Given the description of an element on the screen output the (x, y) to click on. 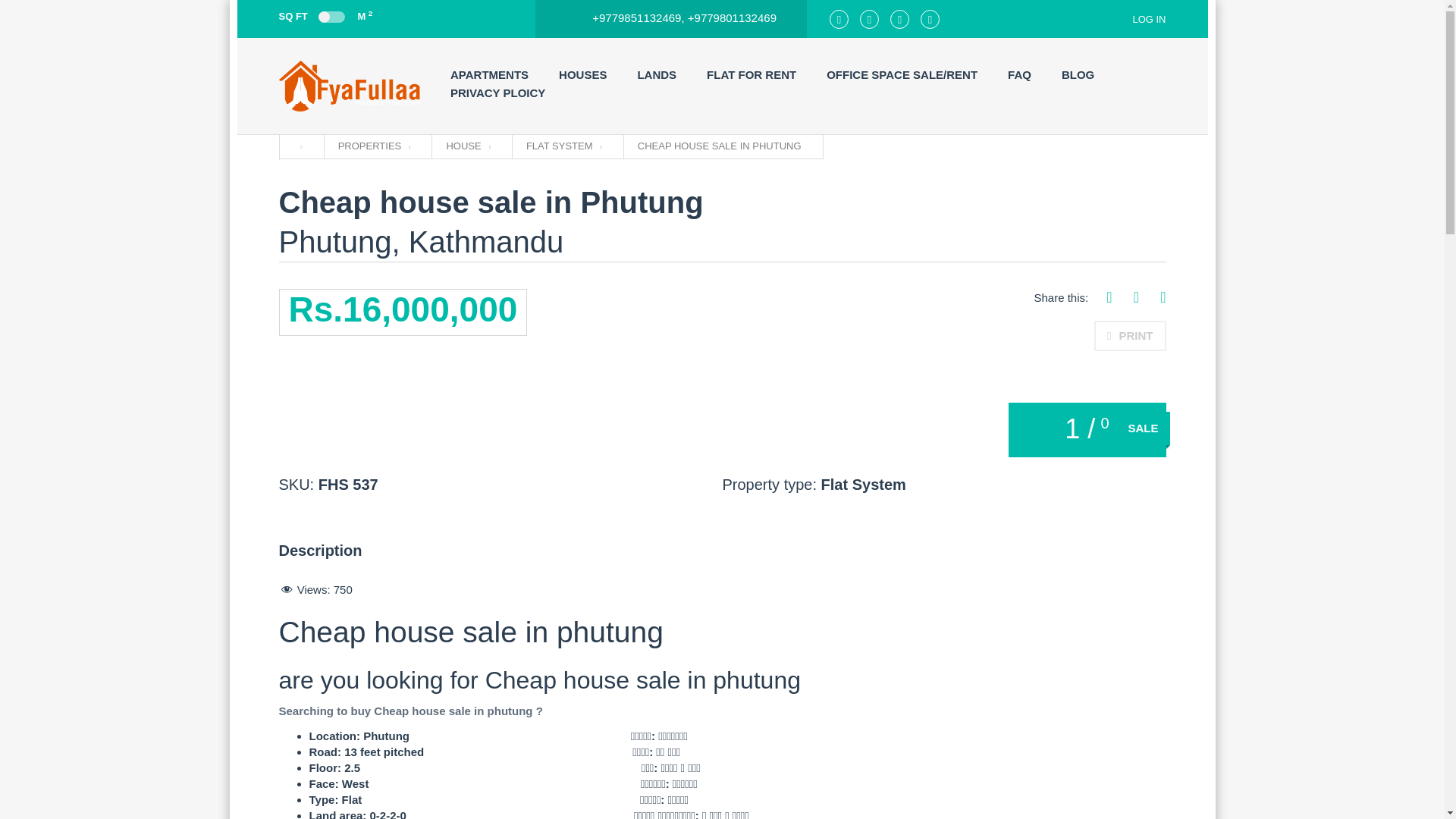
Go to Properties. (373, 146)
FLAT FOR RENT (751, 75)
FLAT SYSTEM (563, 146)
HOUSES (583, 75)
Go to . (296, 146)
LOG IN (1139, 18)
BLOG (1077, 75)
LANDS (657, 75)
Go to the House Property Type archives. (467, 146)
HOUSE (467, 146)
Go to the Flat System Property Type archives. (563, 146)
PRIVACY PLOICY (496, 93)
PROPERTIES (373, 146)
FAQ (1018, 75)
APARTMENTS (488, 75)
